Given the description of an element on the screen output the (x, y) to click on. 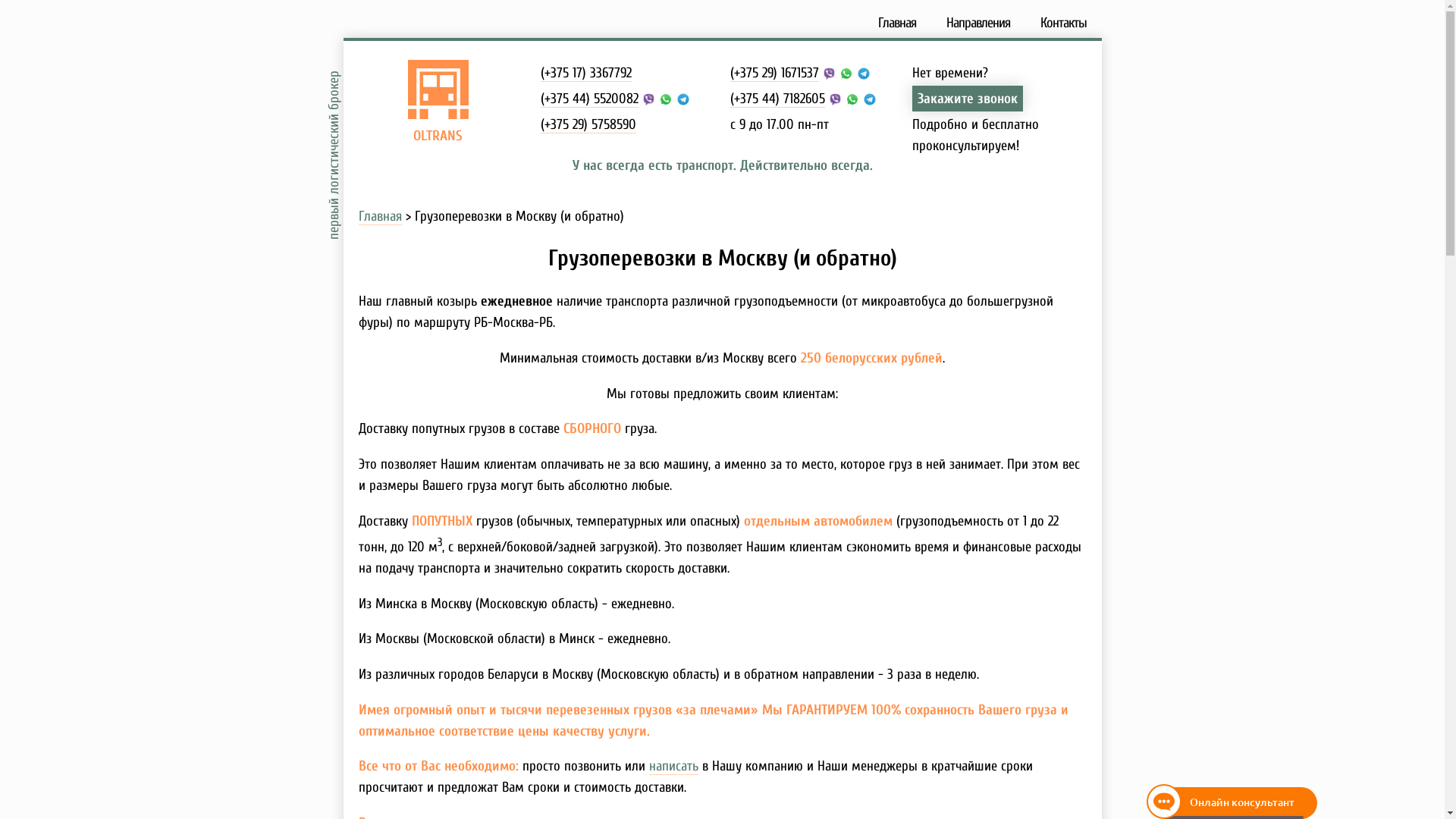
(+375 29) 5758590 Element type: text (587, 124)
(+375 29) 1671537 Element type: text (773, 72)
(+375 17) 3367792 Element type: text (584, 72)
(+375 44) 7182605 Element type: text (776, 98)
(+375 44) 5520082 Element type: text (588, 98)
